Given the description of an element on the screen output the (x, y) to click on. 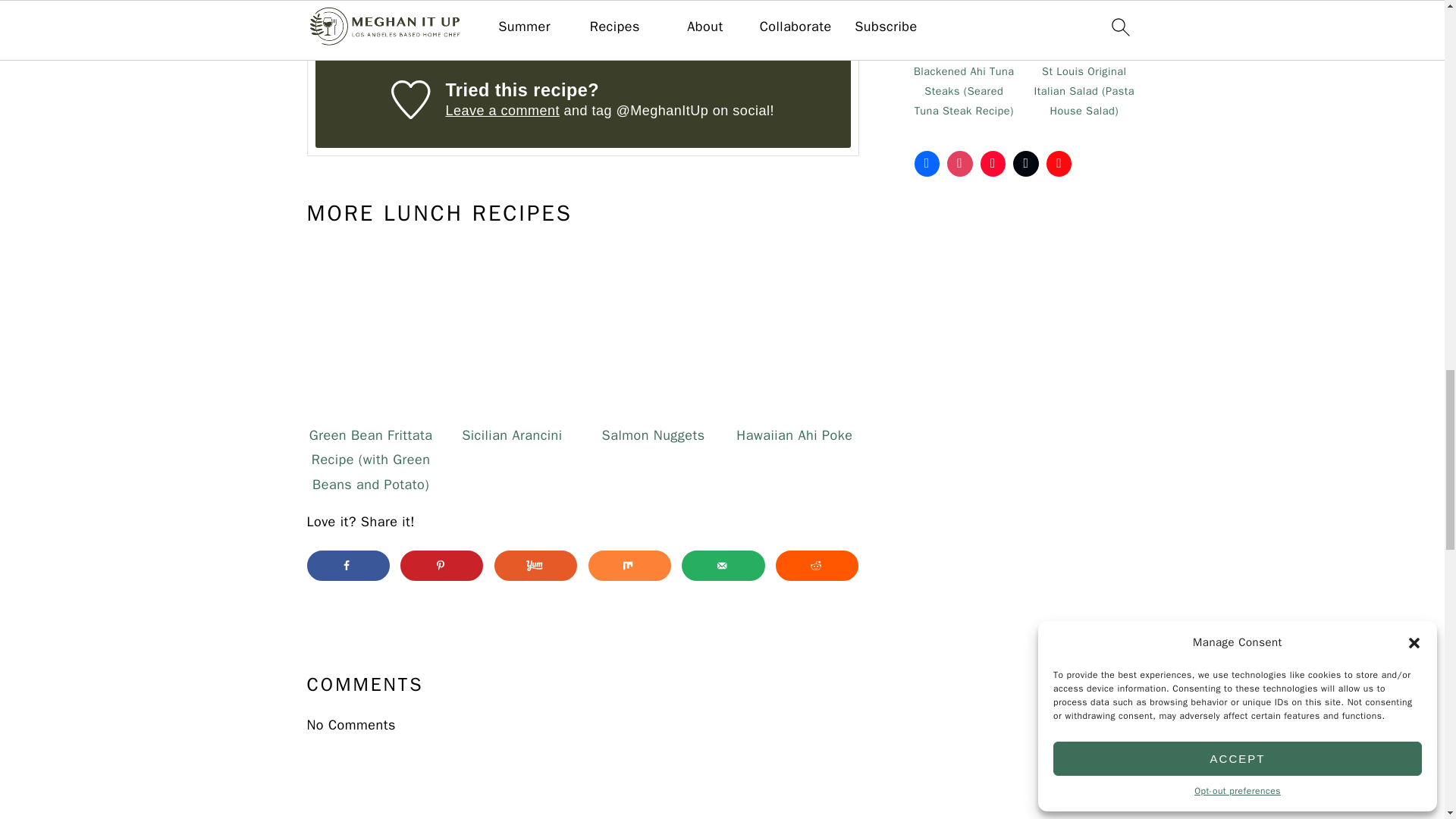
Share on Reddit (817, 565)
Share on Mix (629, 565)
Share on Yummly (535, 565)
Save to Pinterest (441, 565)
Share on Facebook (346, 565)
Send over email (722, 565)
Facebook (926, 163)
